Given the description of an element on the screen output the (x, y) to click on. 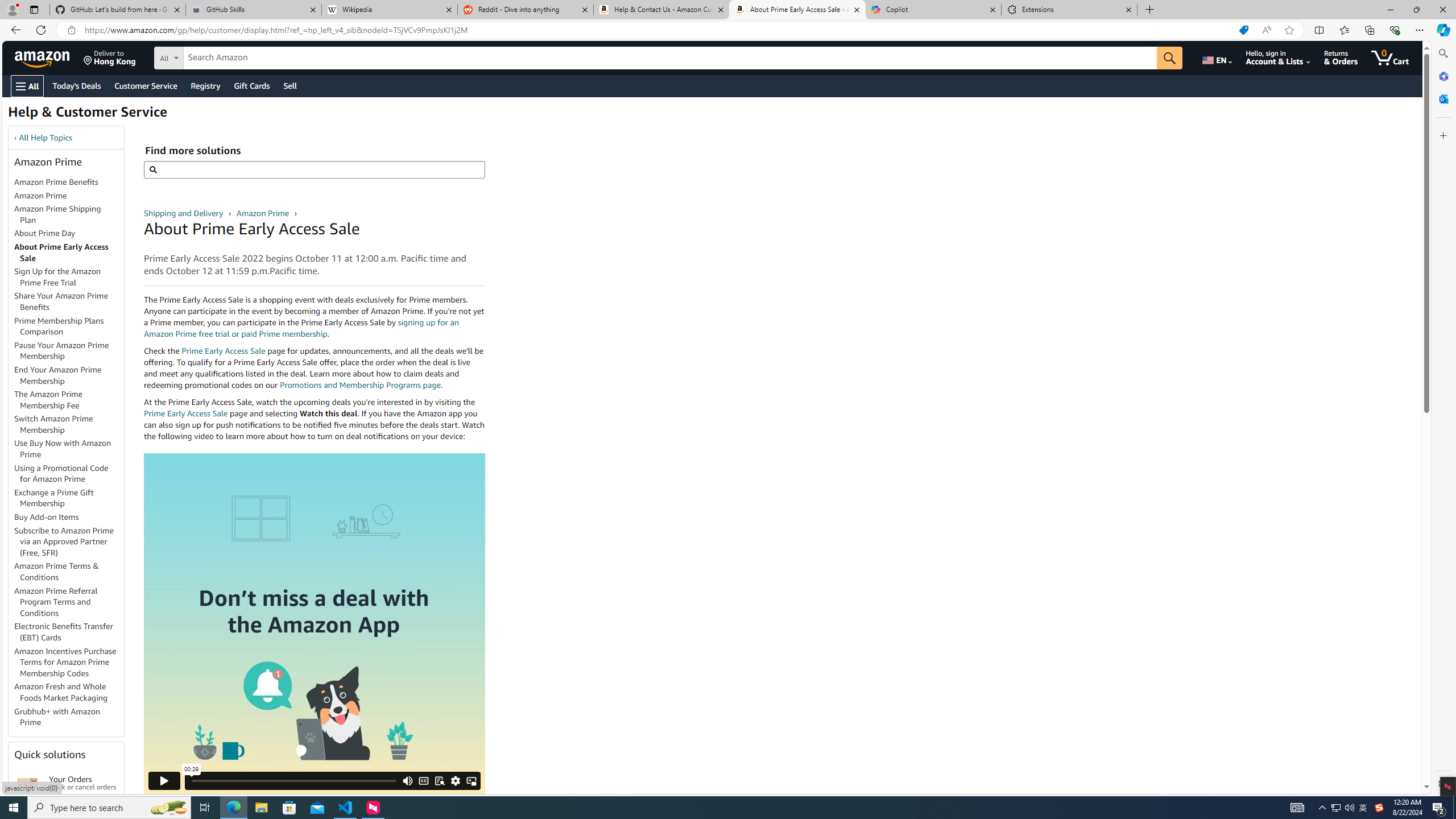
Shipping and Delivery  (184, 213)
0 items in cart (1389, 57)
Amazon Prime Terms & Conditions (56, 571)
Pause Your Amazon Prime Membership (68, 350)
Registry (205, 85)
Picture-in-Picture (471, 780)
Help & Customer Service (87, 114)
Play (164, 780)
Amazon Prime (40, 195)
